Given the description of an element on the screen output the (x, y) to click on. 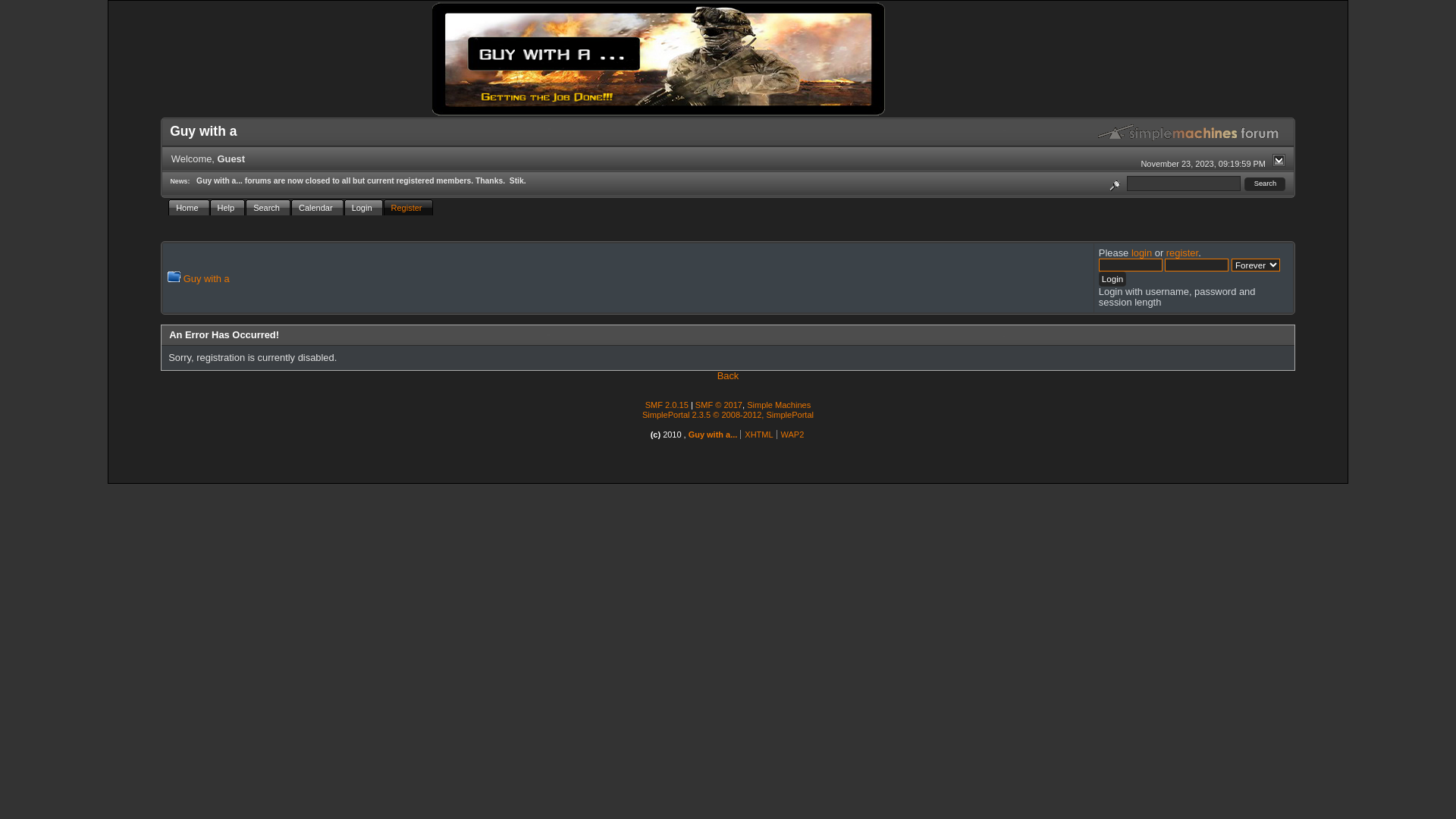
Simple Machines Element type: text (778, 404)
Help Element type: text (227, 207)
Guy with a... Element type: text (712, 434)
Login Element type: text (363, 207)
WAP2 Element type: text (792, 434)
Calendar Element type: text (317, 207)
Shrink or expand the header. Element type: hover (1278, 159)
Guy with a Element type: text (206, 278)
Register Element type: text (408, 207)
Home Element type: text (188, 207)
Advanced search Element type: hover (1114, 182)
register Element type: text (1182, 252)
Search Element type: text (1264, 184)
Login Element type: text (1112, 278)
XHTML Element type: text (758, 434)
login Element type: text (1141, 252)
SMF 2.0.15 Element type: text (666, 404)
Search Element type: text (268, 207)
Back Element type: text (728, 375)
